Given the description of an element on the screen output the (x, y) to click on. 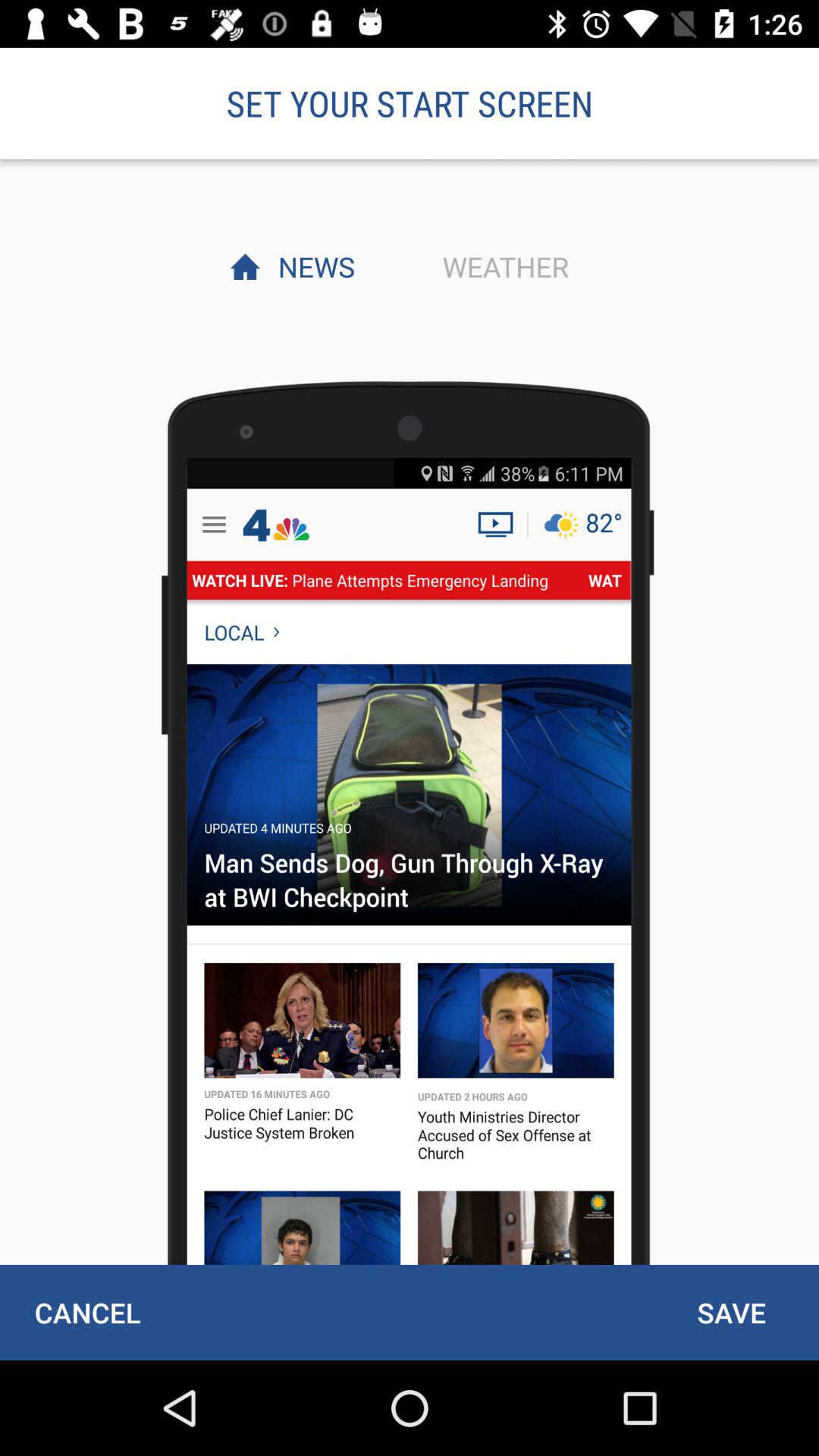
tap cancel icon (87, 1312)
